Given the description of an element on the screen output the (x, y) to click on. 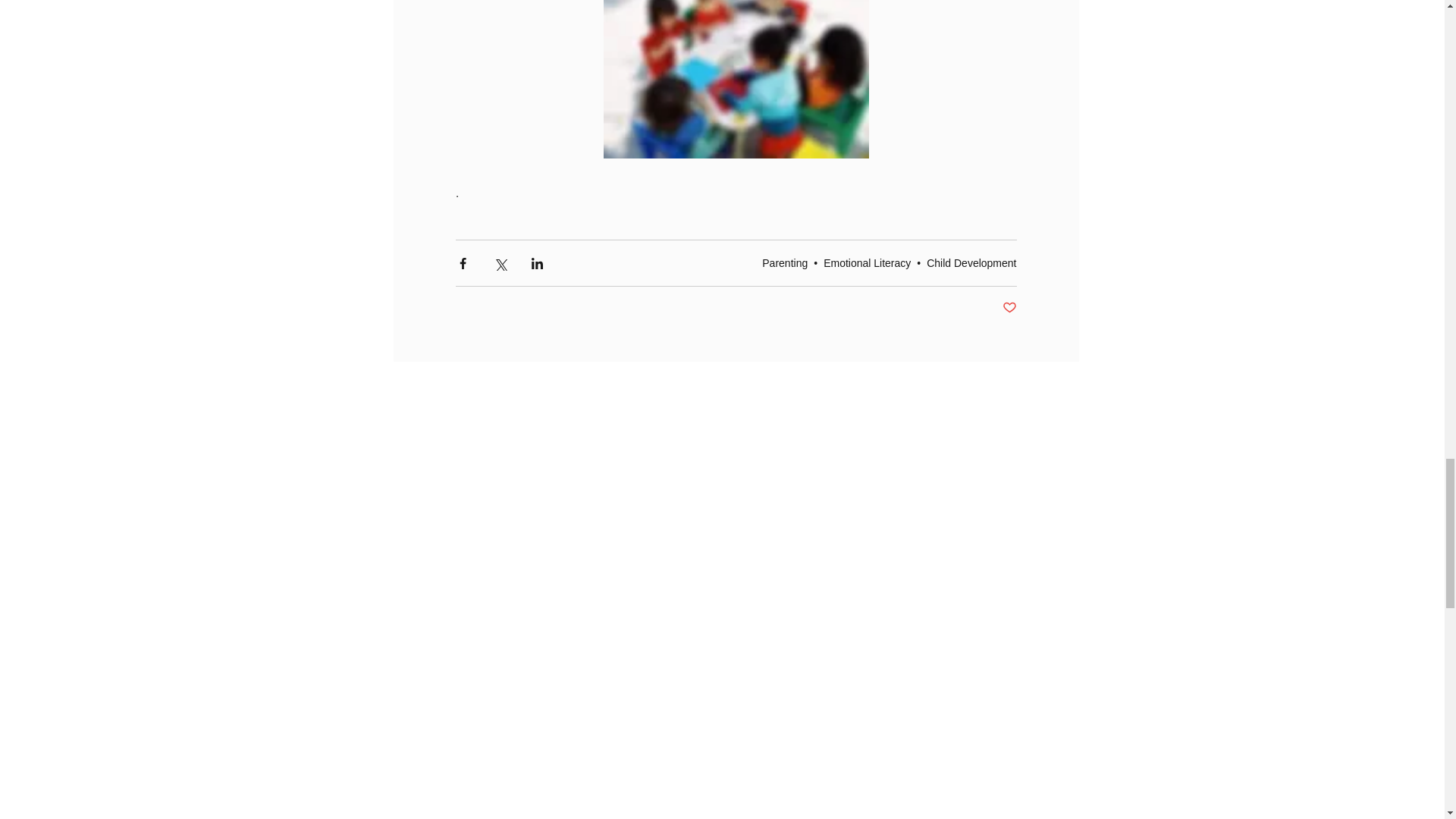
Child Development (971, 263)
Emotional Literacy (867, 263)
Post not marked as liked (1009, 308)
Parenting (784, 263)
